Given the description of an element on the screen output the (x, y) to click on. 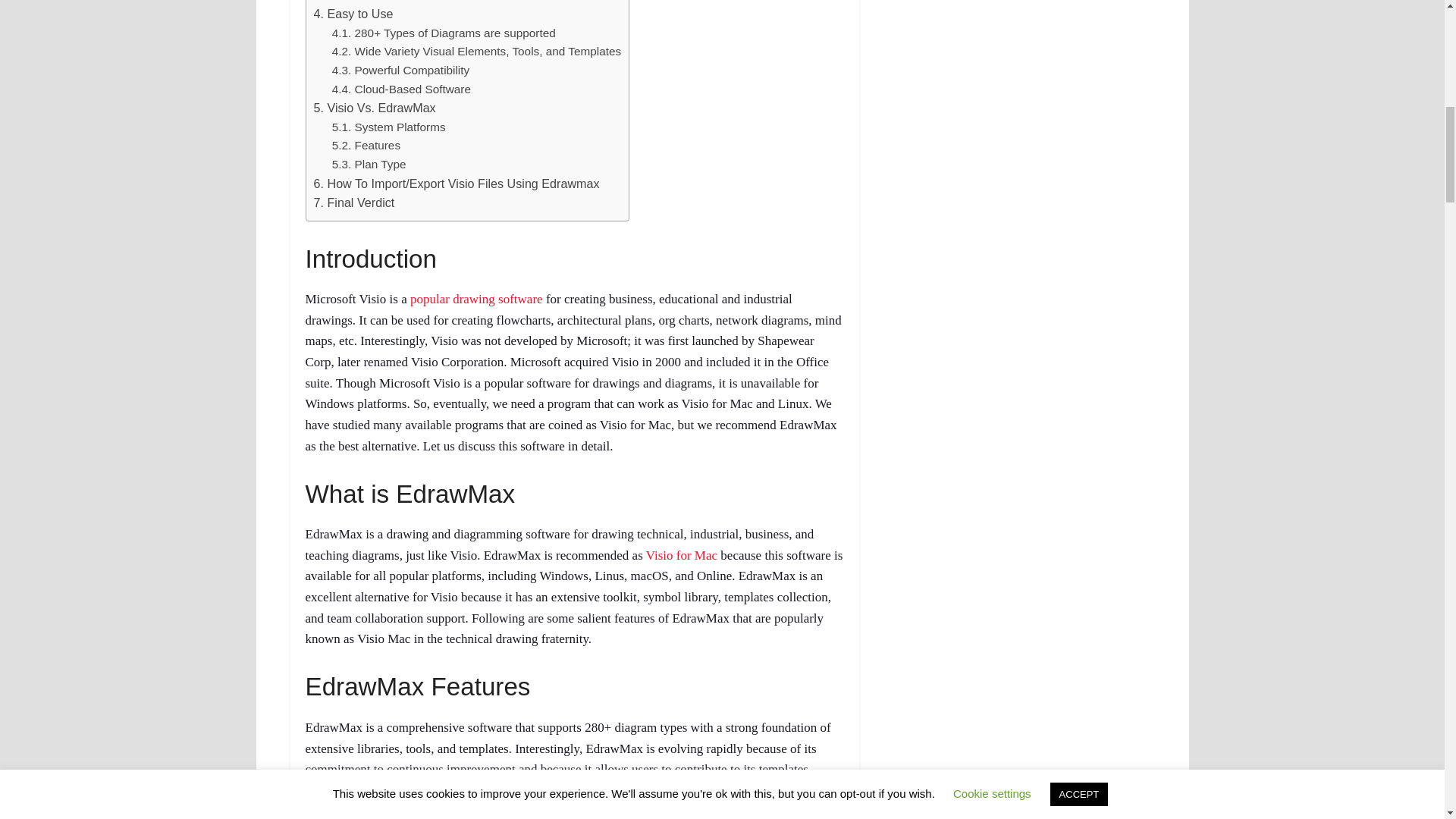
Powerful Compatibility (399, 69)
Easy to Use (353, 13)
Features (365, 144)
Visio Vs. EdrawMax (374, 107)
System Platforms (388, 126)
Cloud-Based Software (400, 88)
Plan Type (368, 164)
Web (354, 0)
Wide Variety Visual Elements, Tools, and Templates (476, 51)
